Given the description of an element on the screen output the (x, y) to click on. 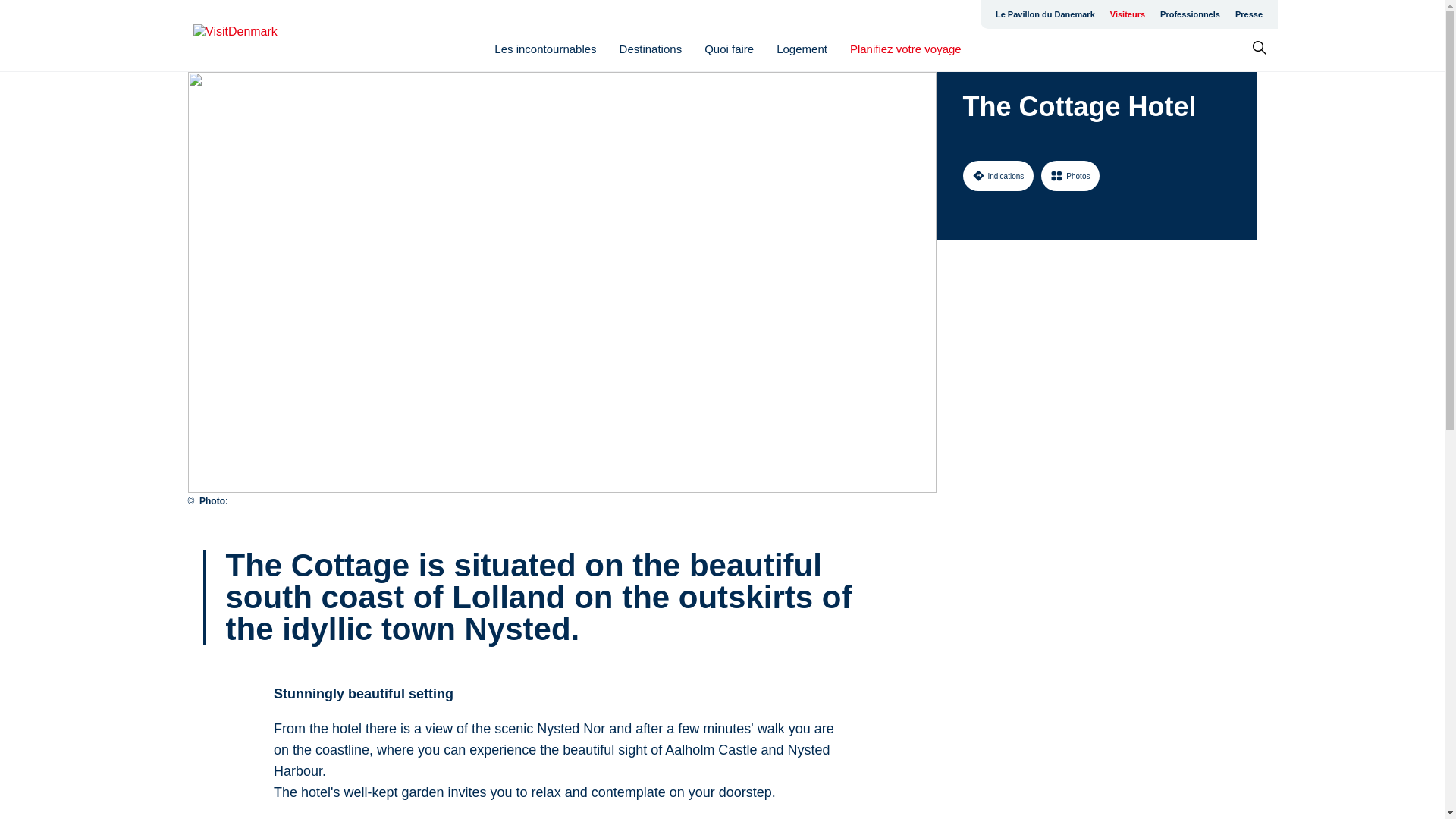
Indications (997, 175)
Logement (801, 48)
Photos (1070, 175)
Le Pavillon du Danemark (1045, 14)
Les incontournables (545, 48)
Quoi faire (729, 48)
Professionnels (1190, 14)
Presse (1248, 14)
Visiteurs (1127, 14)
Planifiez votre voyage (905, 48)
Destinations (651, 48)
